Given the description of an element on the screen output the (x, y) to click on. 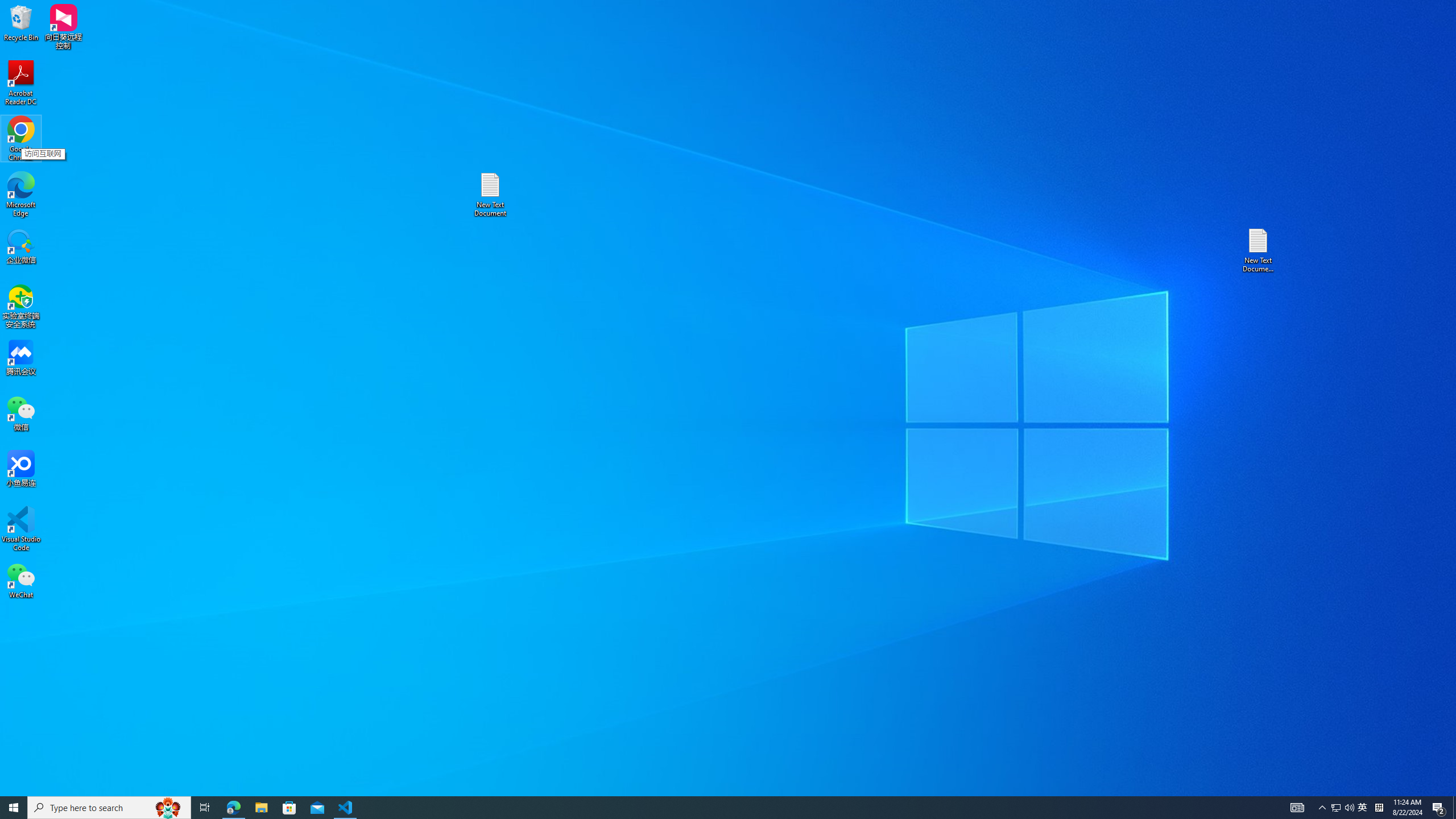
AutomationID: 4105 (1297, 807)
New Text Document (2) (1258, 250)
Notification Chevron (1322, 807)
File Explorer (261, 807)
Microsoft Edge - 1 running window (233, 807)
Task View (204, 807)
Visual Studio Code (21, 528)
New Text Document (489, 194)
Microsoft Edge (21, 194)
Show desktop (1454, 807)
Q2790: 100% (1349, 807)
Running applications (707, 807)
